Given the description of an element on the screen output the (x, y) to click on. 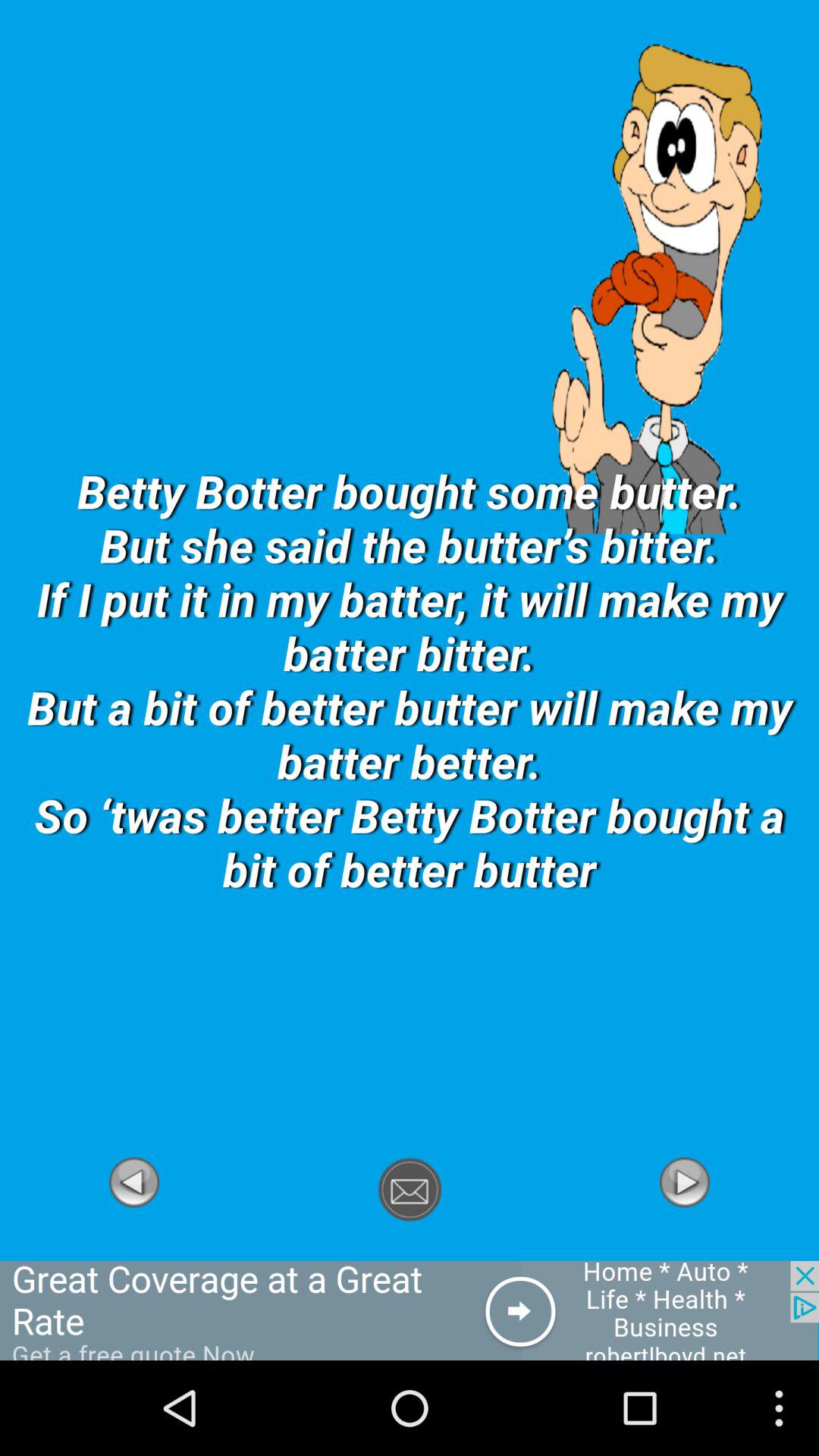
next page (684, 1251)
